Given the description of an element on the screen output the (x, y) to click on. 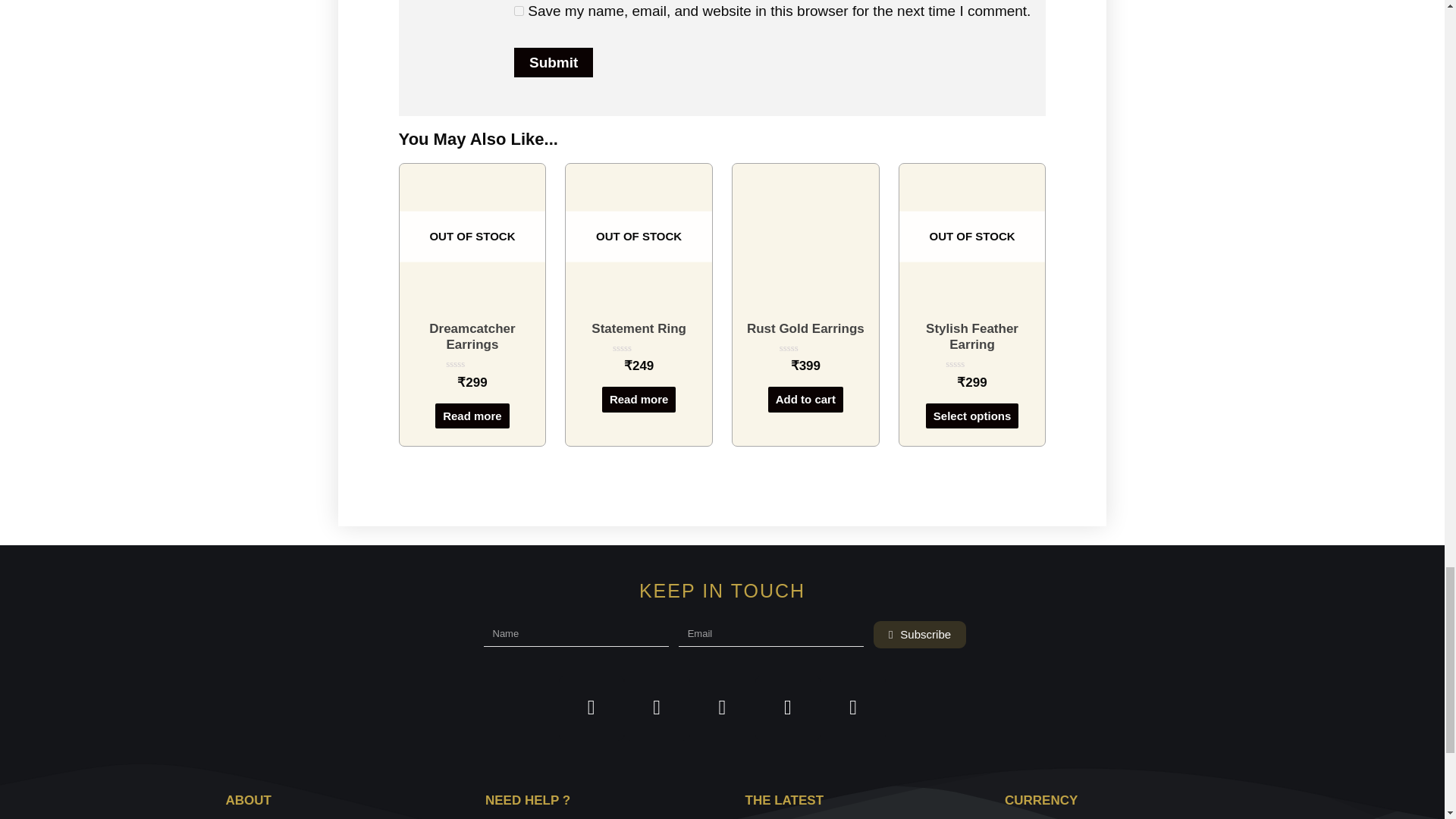
Statement Ring (638, 328)
Subscribe (919, 634)
Select options (972, 416)
Rust Gold Earrings (804, 328)
Twitter (656, 708)
Submit (552, 61)
Read more (639, 399)
Add to cart (805, 399)
Read more (472, 416)
Facebook-f (591, 708)
Dreamcatcher Earrings (472, 336)
Instagram (721, 708)
Submit (552, 61)
Stylish Feather Earring (972, 336)
Pinterest (788, 708)
